Given the description of an element on the screen output the (x, y) to click on. 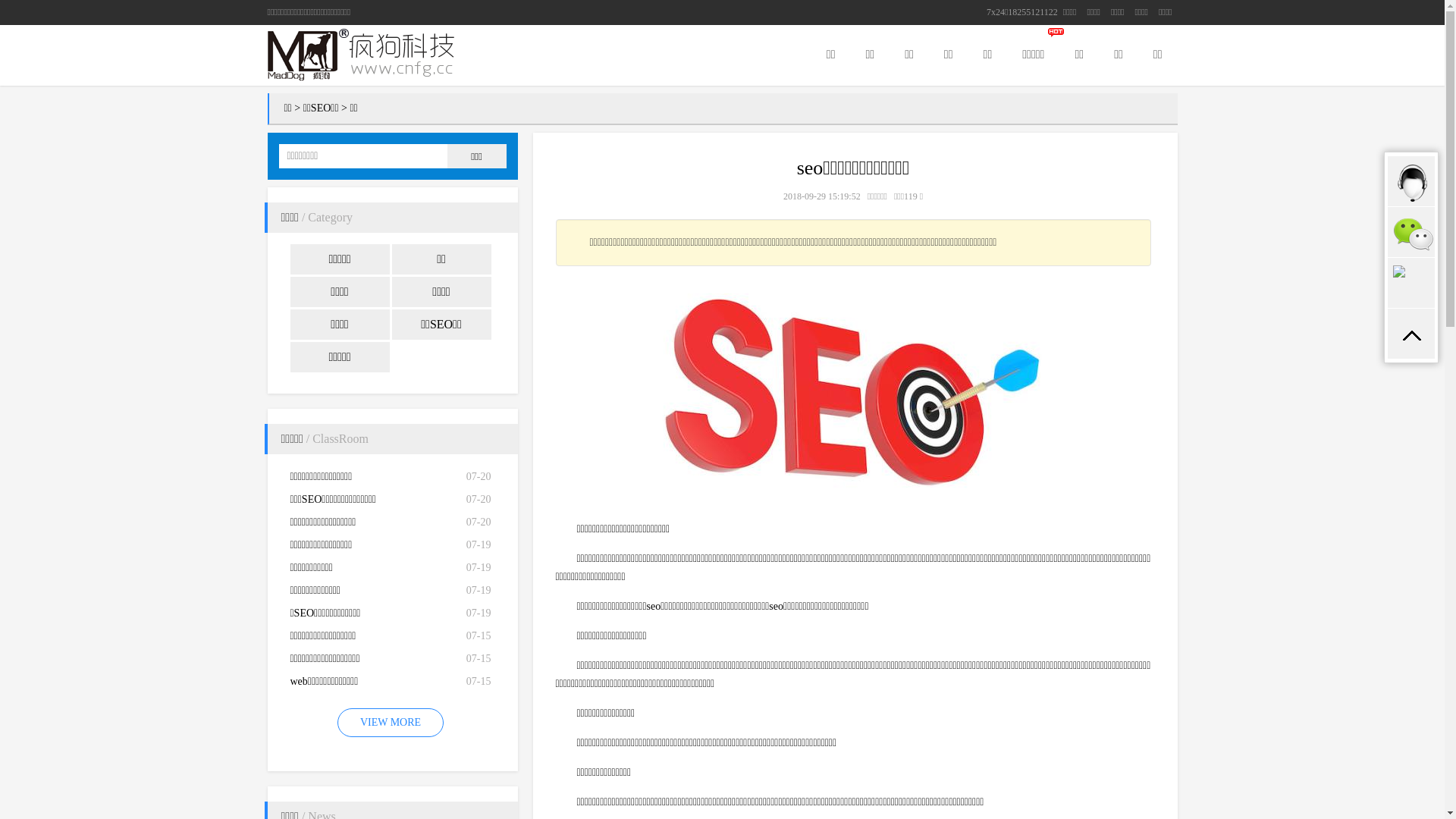
VIEW MORE Element type: text (390, 722)
